Given the description of an element on the screen output the (x, y) to click on. 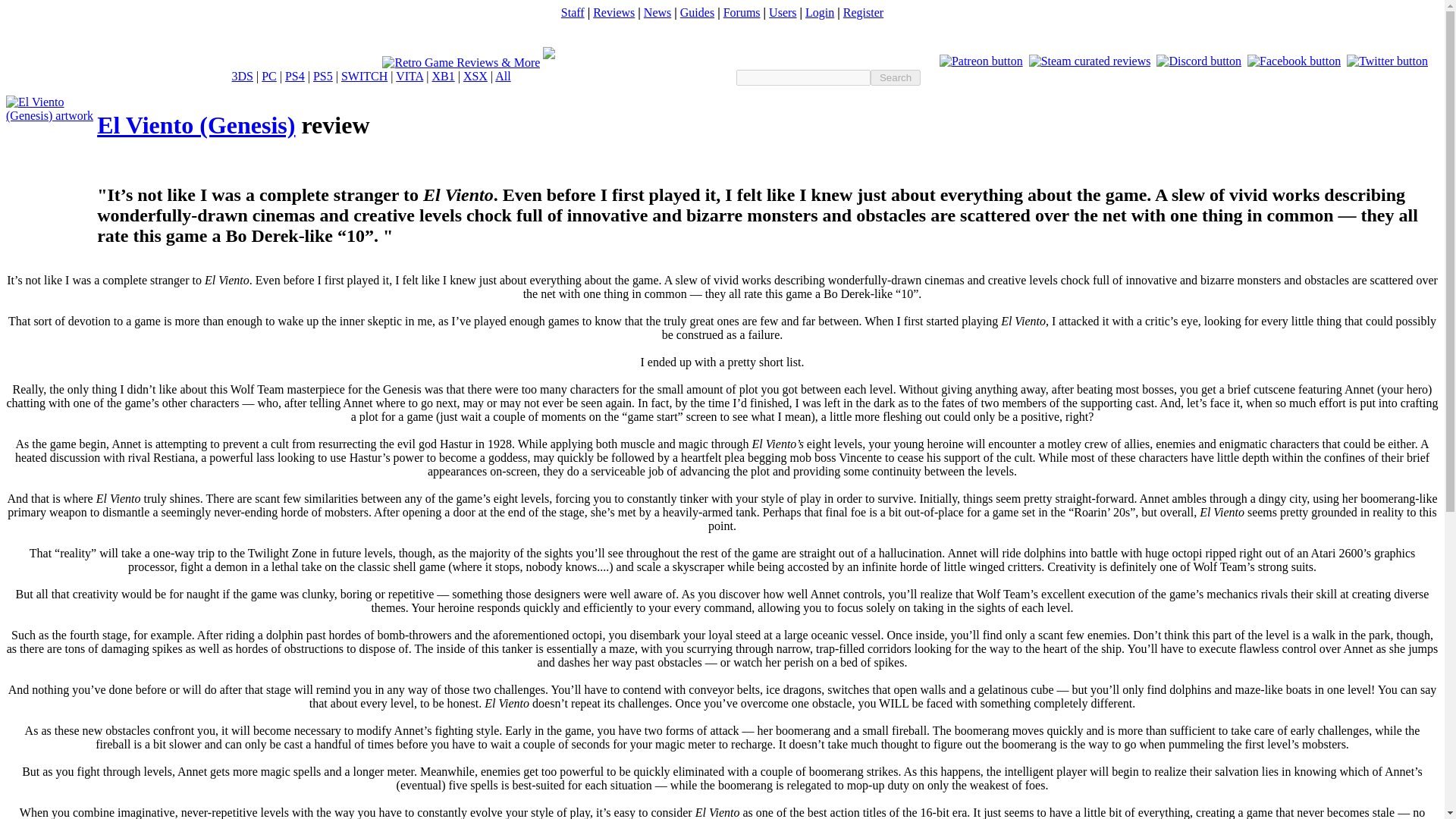
Login (819, 11)
Get to know us on the HonestGamers Discord server (1198, 60)
Reviews (613, 11)
VITA (409, 75)
PC (269, 75)
Switch Game Reviews (363, 75)
Information about site staff and openings (572, 11)
Sign in to your HonestGamers account (819, 11)
Video Game Reviews (613, 11)
 Search  (895, 77)
